Given the description of an element on the screen output the (x, y) to click on. 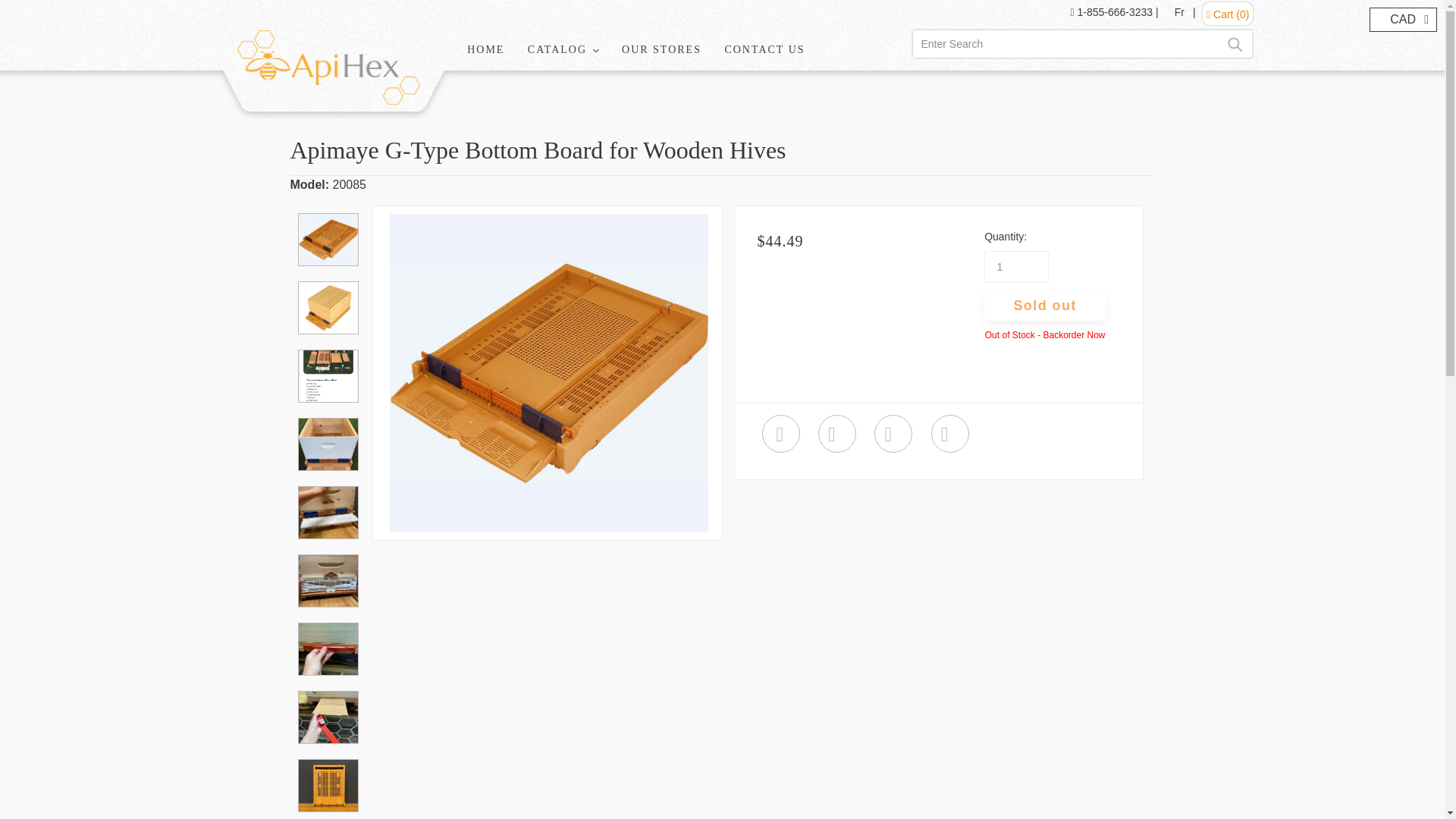
HOME (485, 49)
ApiHex on Facebook (781, 433)
ApiHex on Share via Email (949, 433)
ApiHex on Pinterest (893, 433)
1 (1016, 266)
ApiHex on Twitter (837, 433)
CONTACT US (763, 49)
OUR STORES (661, 49)
Smile.io Rewards Program Launcher (1390, 780)
